Given the description of an element on the screen output the (x, y) to click on. 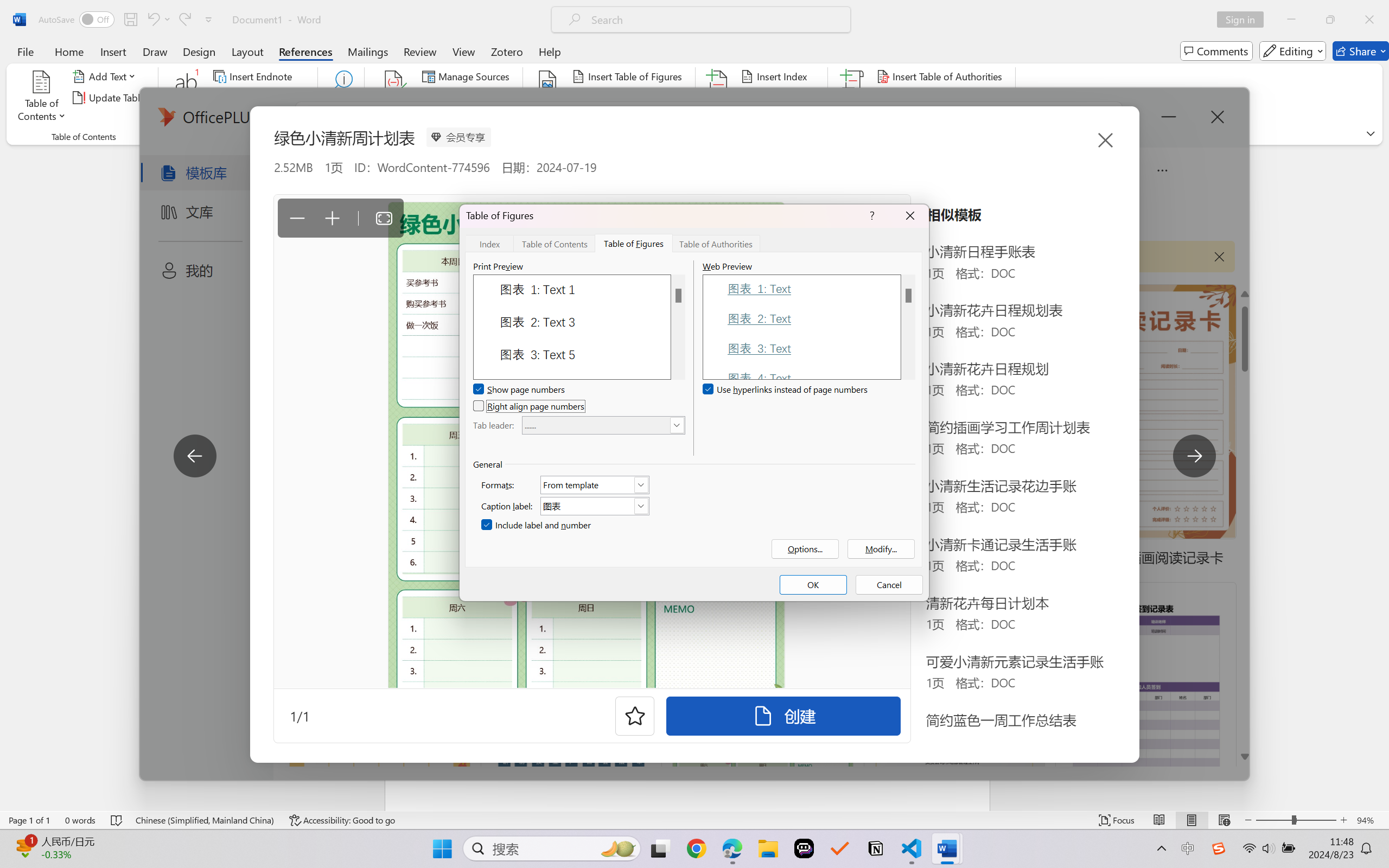
Show page numbers (519, 389)
Formats: (595, 484)
Redo Apply Quick Style (184, 19)
Update Table (914, 97)
Insert Index... (775, 75)
Style (488, 97)
Style (483, 96)
OK (813, 584)
